Given the description of an element on the screen output the (x, y) to click on. 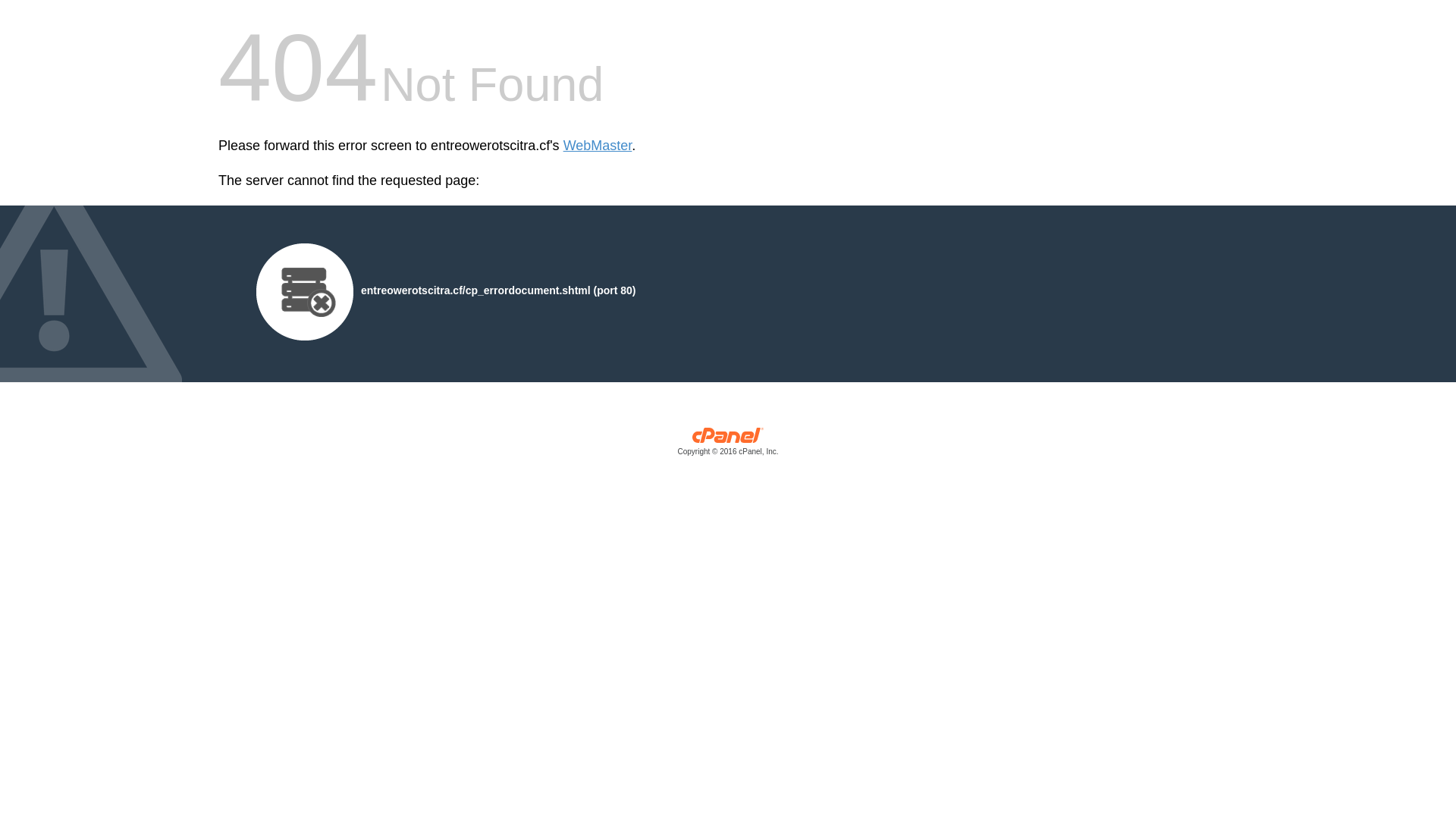
WebMaster Element type: text (597, 145)
